Given the description of an element on the screen output the (x, y) to click on. 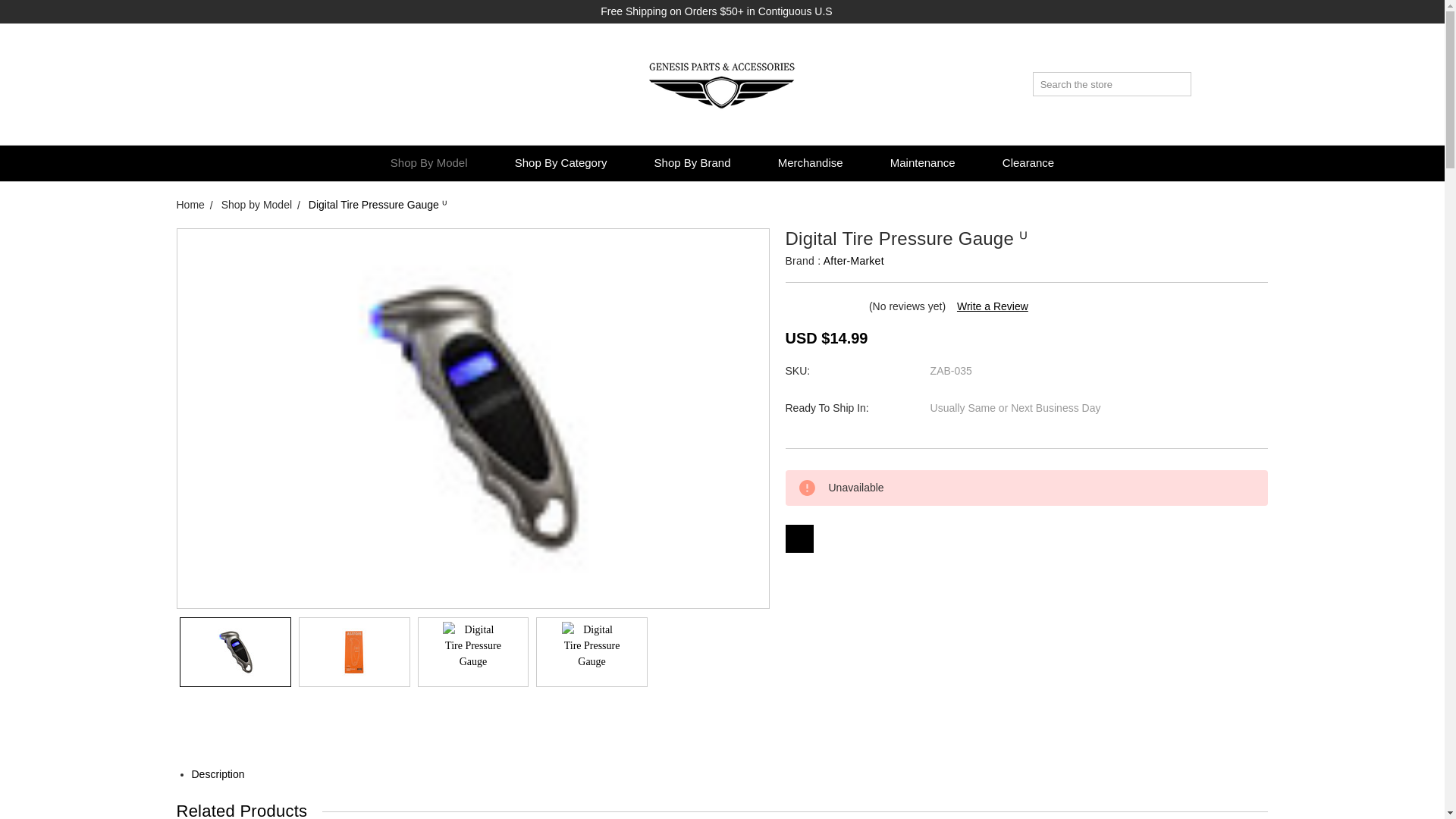
Digital Tire Pressure Gauge (235, 651)
Digital Tire Pressure Gauge (472, 651)
Digital Tire Pressure Gauge (353, 651)
Search (1180, 84)
Digital Tire Pressure Gauge (592, 651)
Genesis Parts and Accessories (721, 83)
Search (1180, 84)
